Given the description of an element on the screen output the (x, y) to click on. 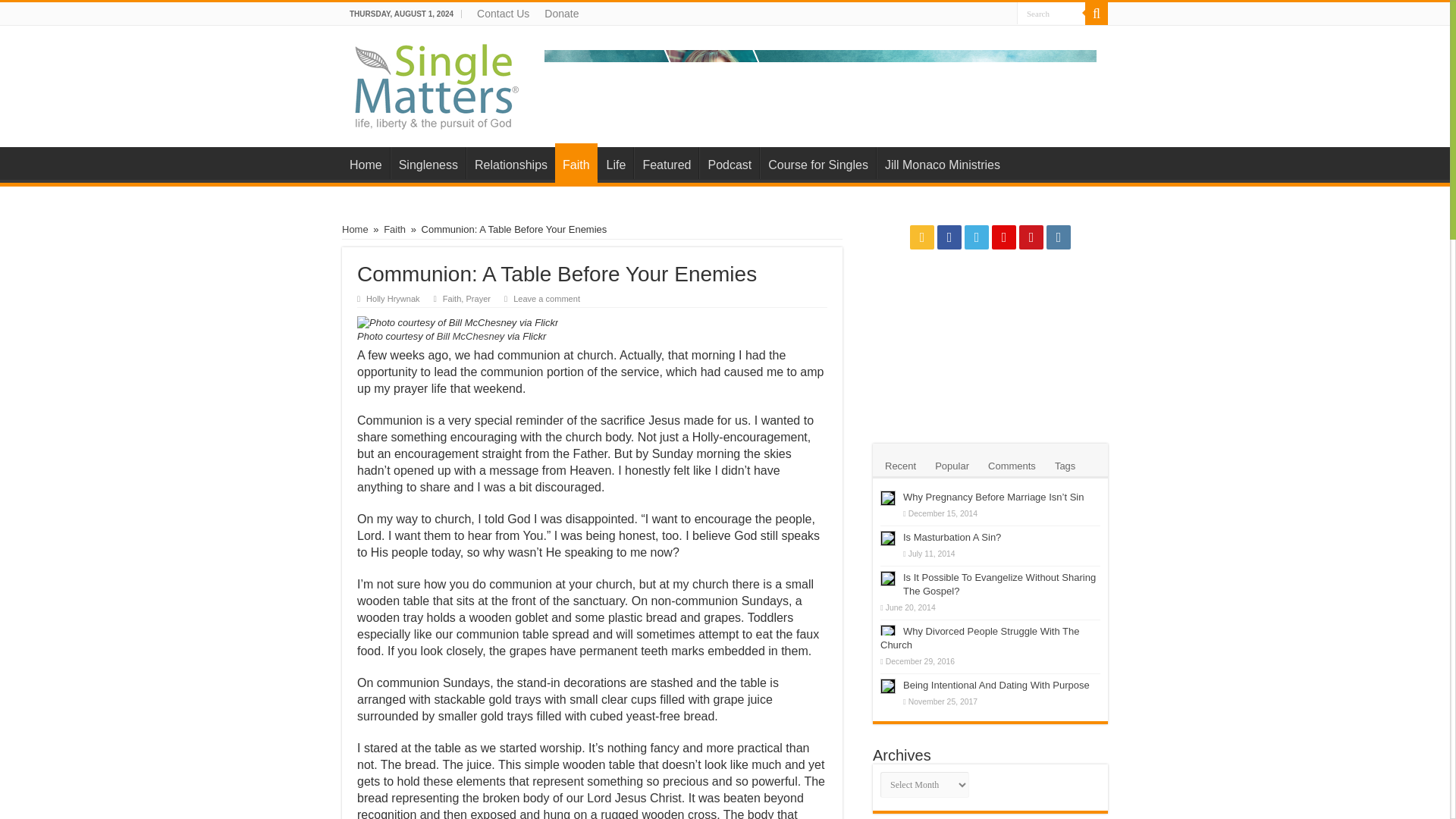
Relationships (509, 163)
Life (615, 163)
Jill Monaco Ministries (820, 82)
Leave a comment (552, 298)
Donate (561, 13)
Search (1050, 13)
Jill Monaco Ministries (941, 163)
Search (1096, 13)
Bill McChesney (471, 336)
Singleness (427, 163)
Featured (665, 163)
Single Matters Magazine with Jill Monaco Ministries (437, 83)
Contact Us (502, 13)
Podcast (728, 163)
Singleness (427, 163)
